Given the description of an element on the screen output the (x, y) to click on. 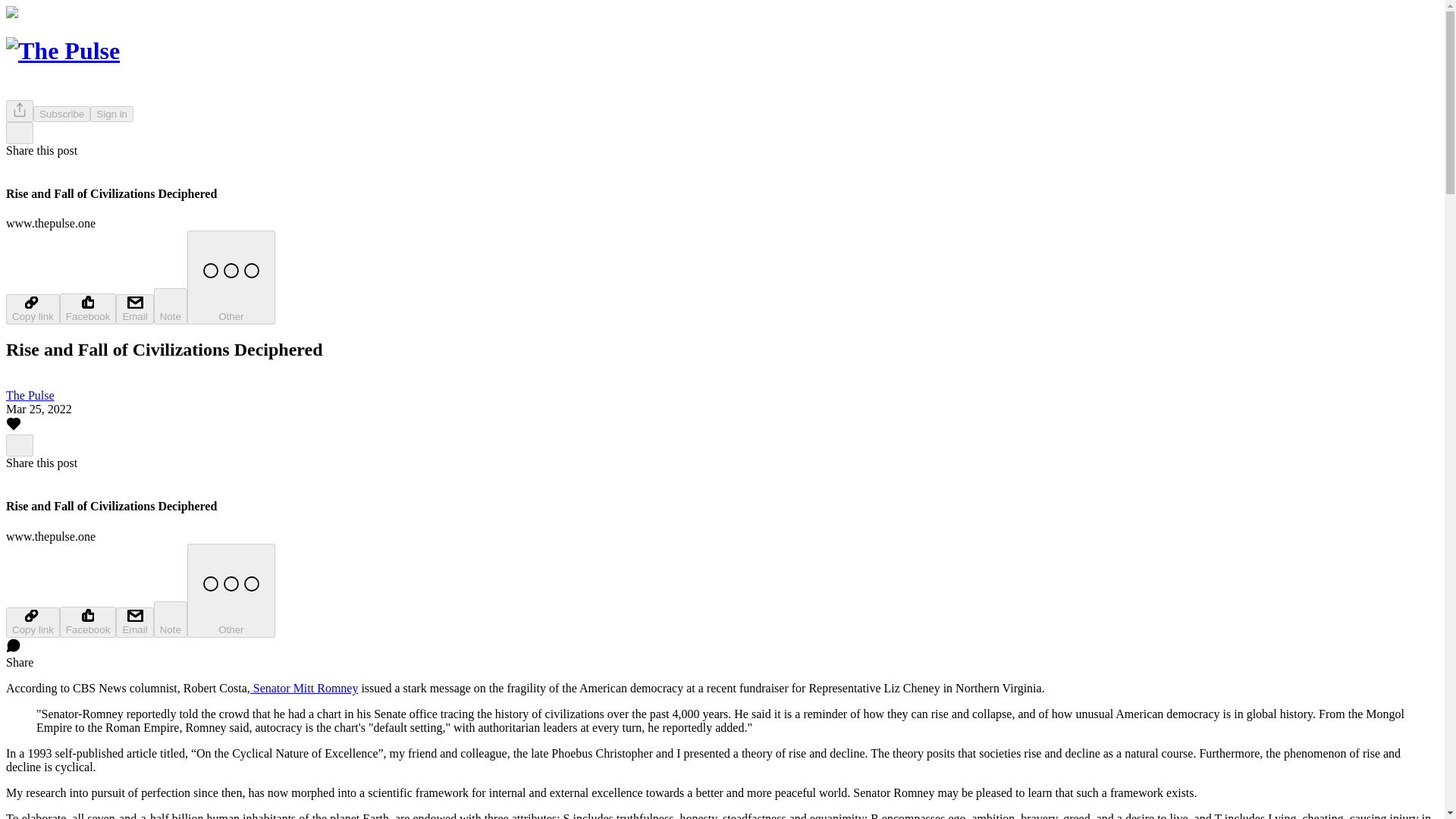
Email (134, 622)
Note (170, 306)
Sign in (111, 114)
Copy link (32, 309)
Other (231, 590)
Facebook (87, 622)
Other (231, 277)
Note (170, 619)
Facebook (87, 308)
Copy link (32, 622)
Subscribe (61, 114)
Senator Mitt Romney (304, 687)
The Pulse (30, 395)
Email (134, 309)
